Given the description of an element on the screen output the (x, y) to click on. 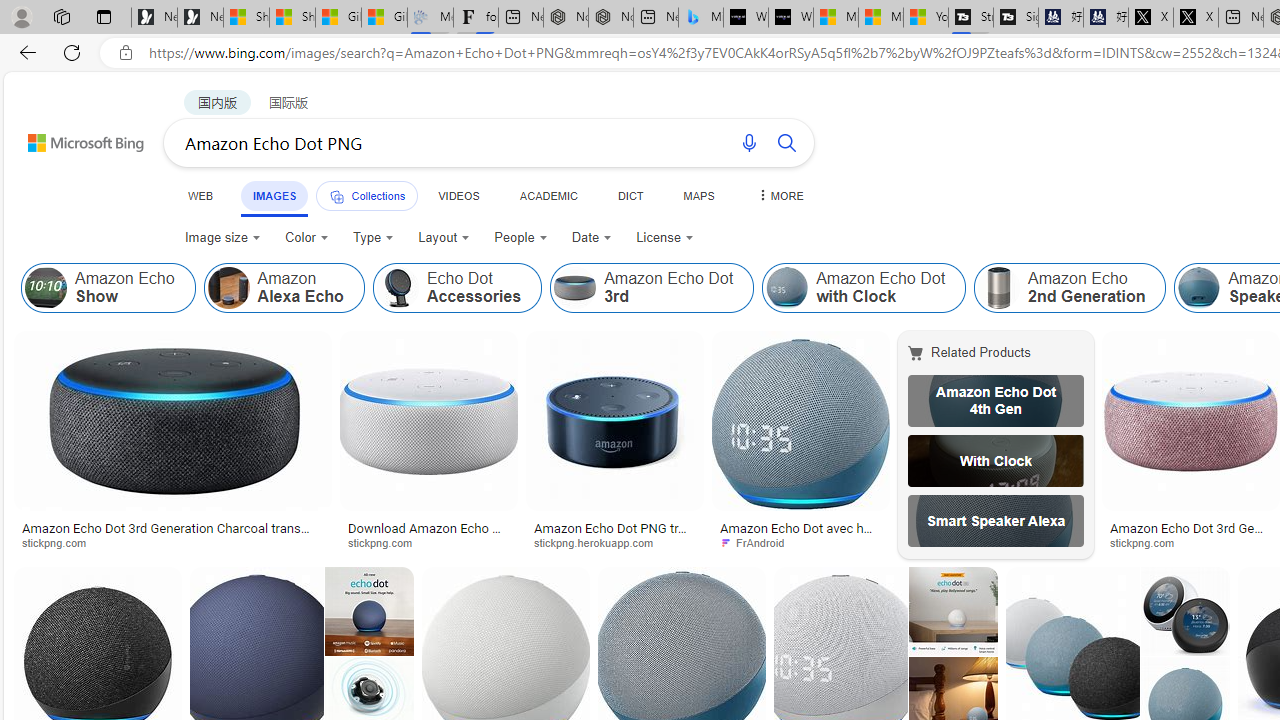
Date (591, 237)
FrAndroid (758, 541)
Class: b_pri_nav_svg (336, 196)
IMAGES (274, 195)
FrAndroid (800, 542)
People (521, 237)
